Given the description of an element on the screen output the (x, y) to click on. 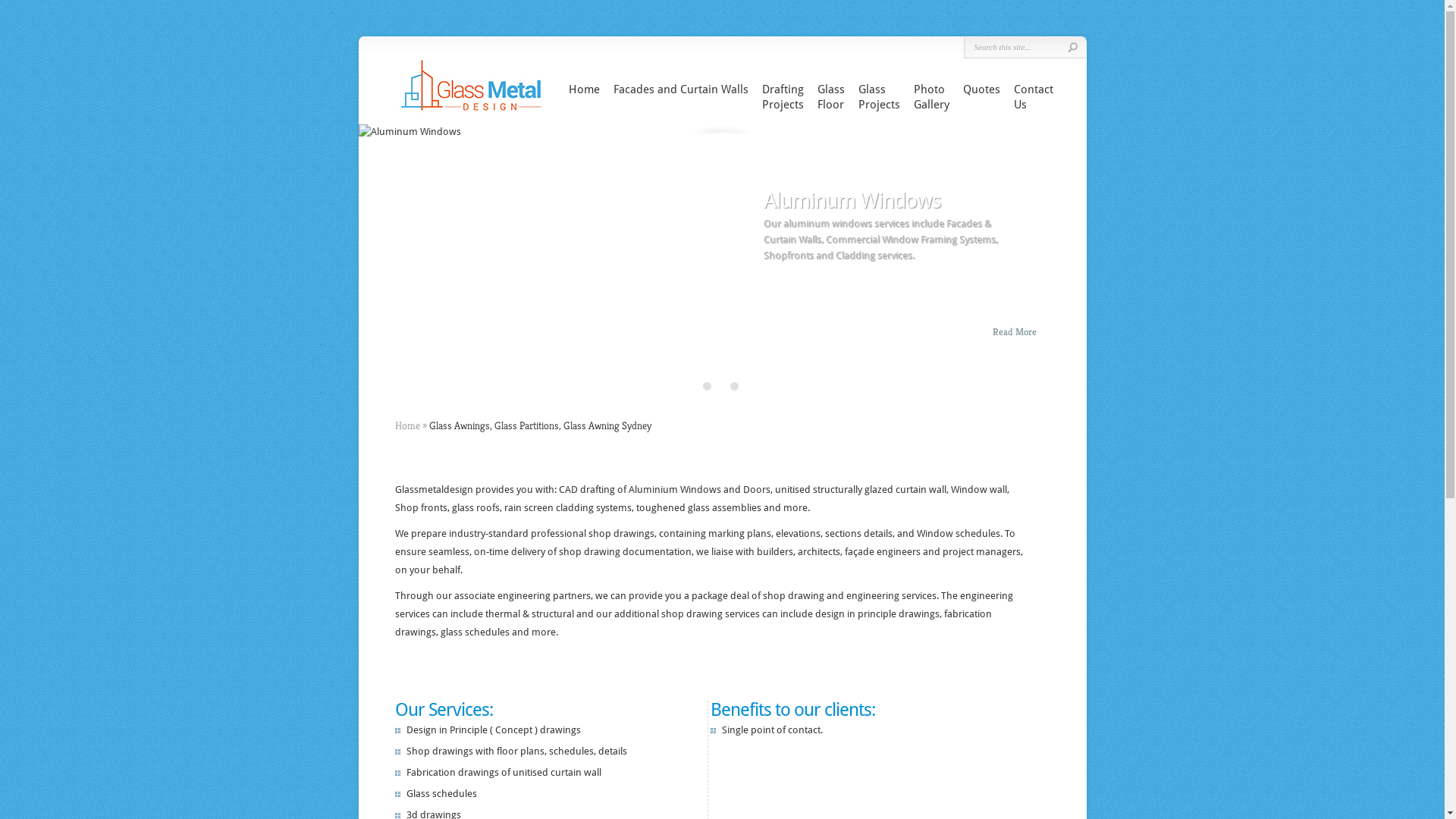
Previous Element type: text (368, 256)
Glass
Floor Element type: text (830, 96)
2 Element type: text (734, 386)
Photo
Gallery Element type: text (930, 96)
Next Element type: text (1075, 256)
Home Element type: text (789, 200)
Facades and Curtain Walls Element type: text (679, 89)
Home Element type: text (583, 89)
Quotes Element type: text (981, 89)
0 Element type: text (706, 386)
Drafting
Projects Element type: text (782, 96)
Glass
Projects Element type: text (879, 96)
Contact
Us Element type: text (1032, 96)
Read More Element type: text (1014, 331)
Home Element type: text (406, 425)
1 Element type: text (720, 386)
Aluminum Windows Element type: text (851, 200)
